Given the description of an element on the screen output the (x, y) to click on. 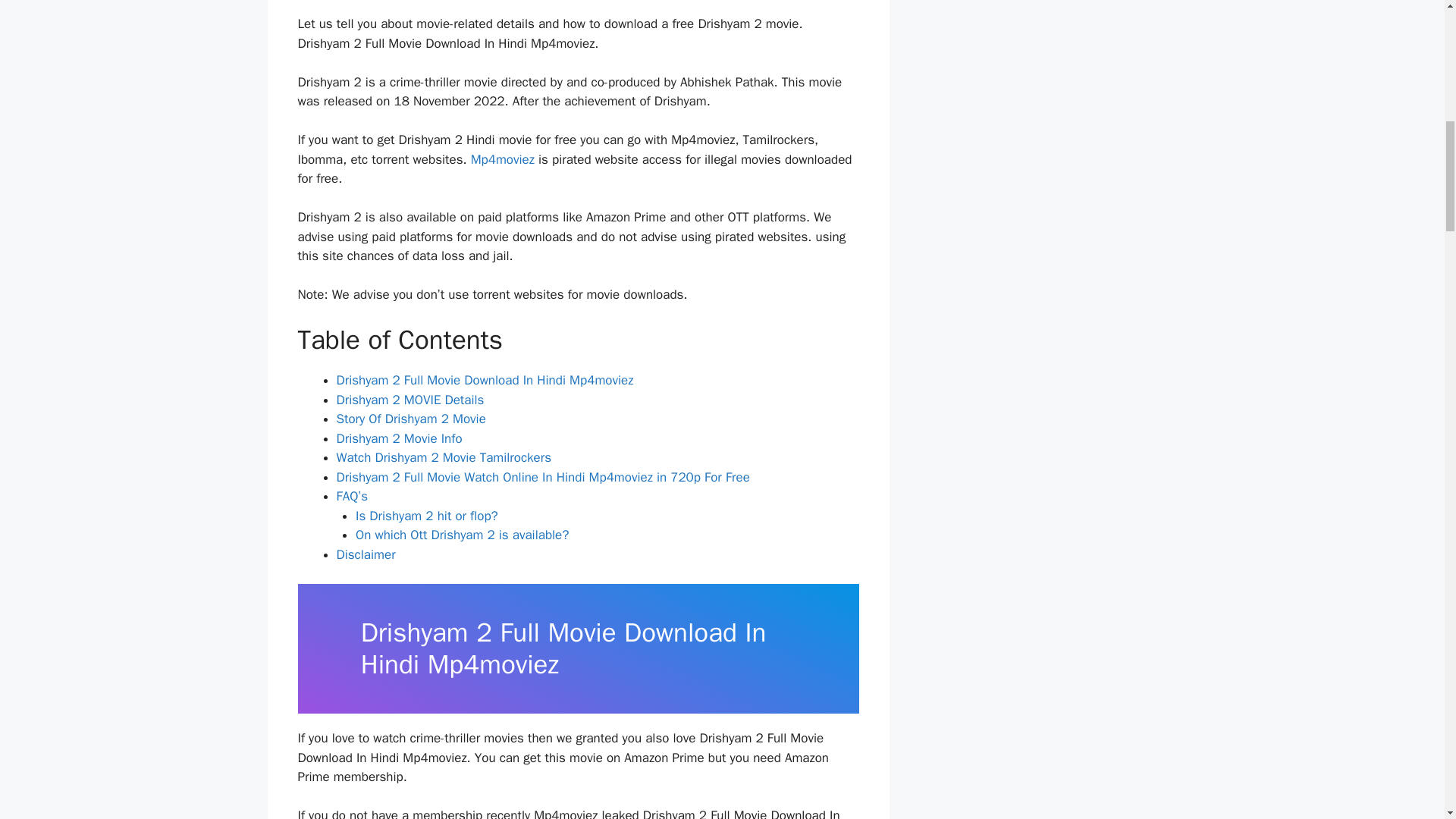
Drishyam 2 MOVIE Details (410, 399)
Disclaimer (366, 554)
Story Of Drishyam 2 Movie (411, 418)
Is Drishyam 2 hit or flop? (426, 515)
On which Ott Drishyam 2 is available? (462, 534)
Mp4moviez (502, 159)
Drishyam 2 Movie Info (399, 438)
Watch Drishyam 2 Movie Tamilrockers (443, 457)
Drishyam 2 Full Movie Download In Hindi Mp4moviez (484, 380)
Scroll back to top (1406, 720)
